Given the description of an element on the screen output the (x, y) to click on. 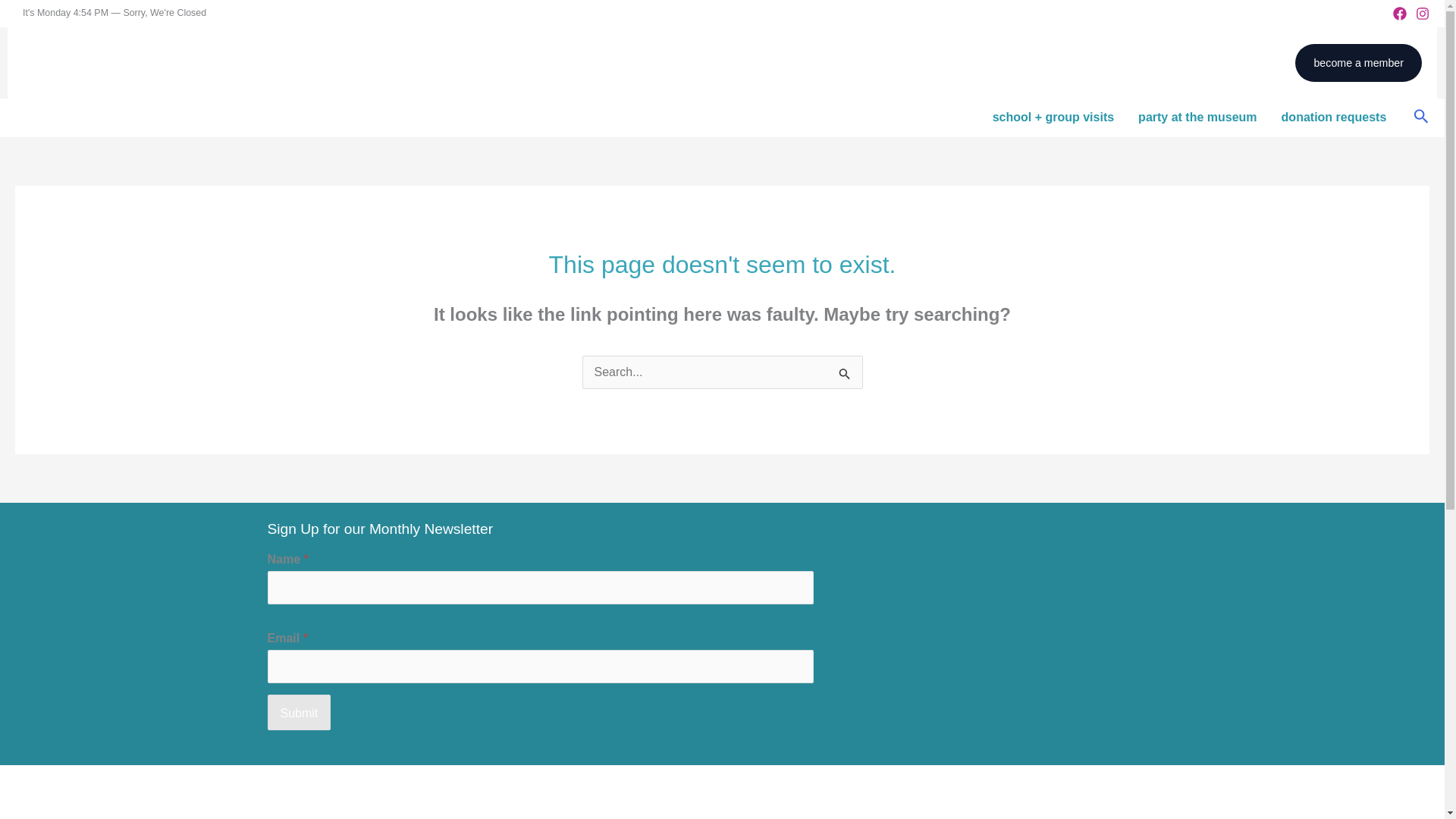
donation requests (1334, 117)
party at the museum (1196, 117)
contact us (1230, 62)
join (1069, 62)
about (916, 62)
donate (1144, 62)
visit (995, 62)
become a member (1358, 62)
